Given the description of an element on the screen output the (x, y) to click on. 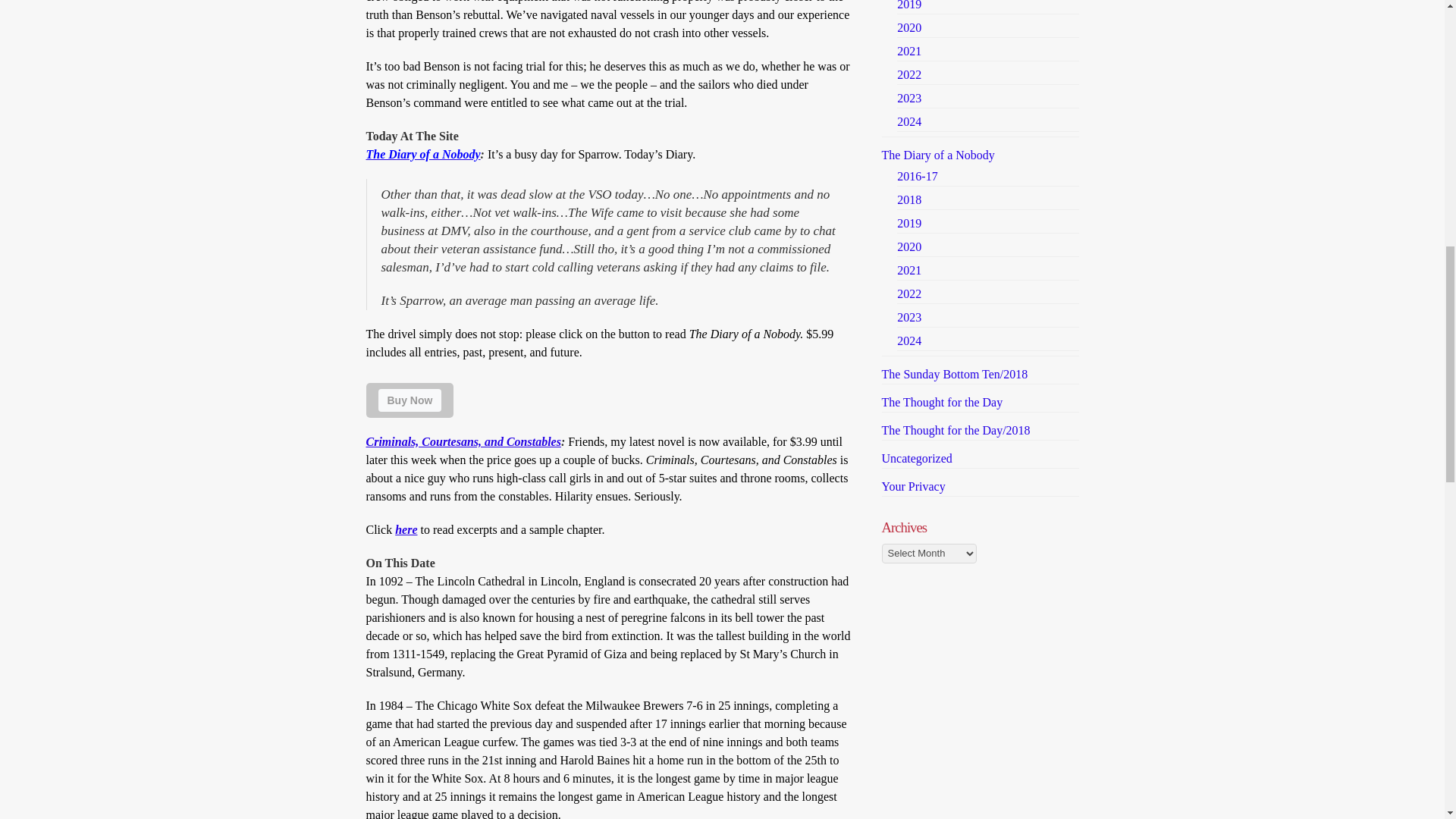
here (405, 529)
The Diary of a Nobody (422, 154)
Criminals, Courtesans, and Constables (462, 440)
Buy Now (408, 400)
